Given the description of an element on the screen output the (x, y) to click on. 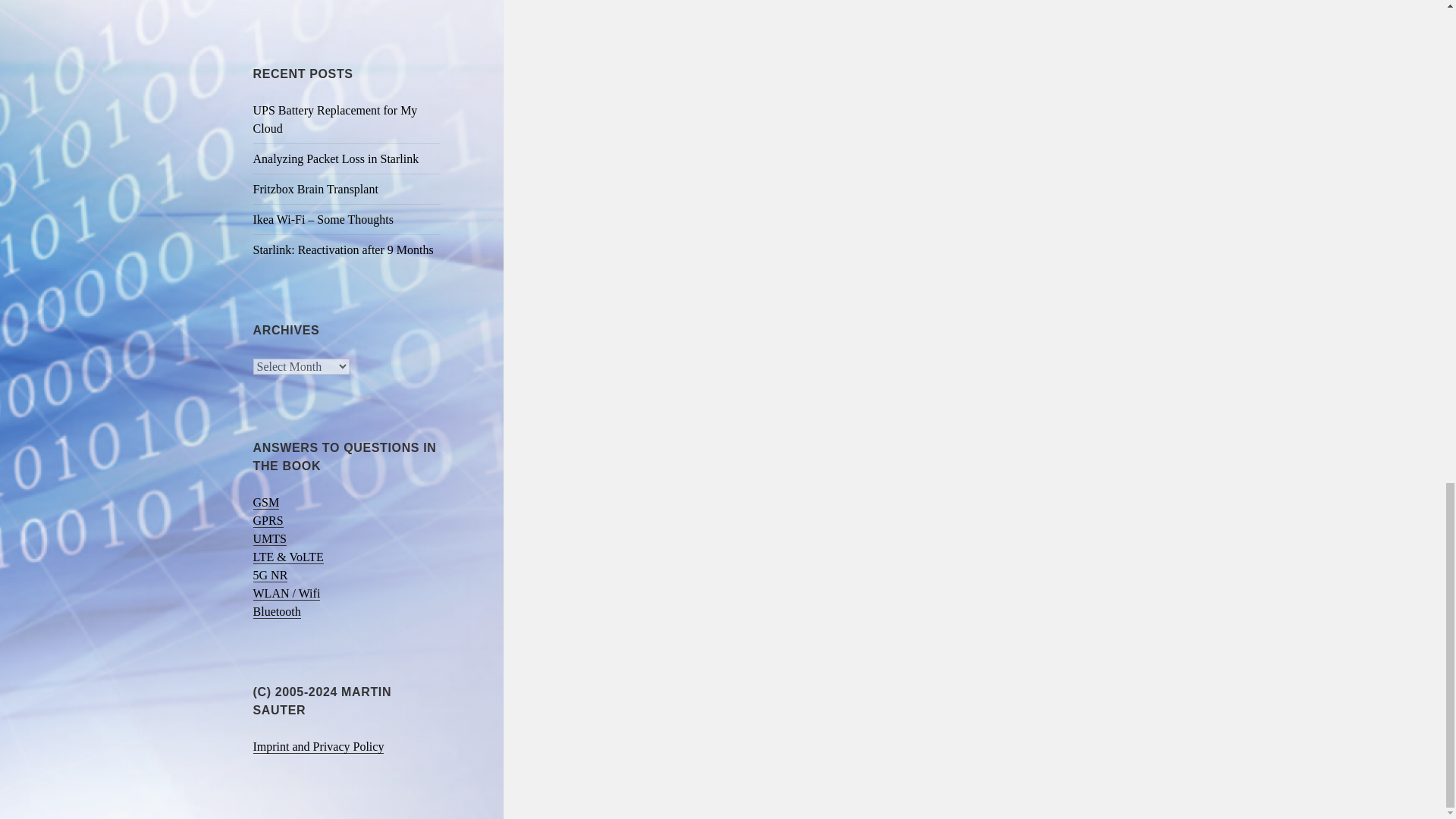
Bluetooth (277, 612)
GPRS (268, 520)
UMTS (269, 539)
Starlink: Reactivation after 9 Months (343, 249)
Imprint and Privacy Policy (318, 746)
5G NR (270, 575)
UPS Battery Replacement for My Cloud (335, 119)
Analyzing Packet Loss in Starlink (336, 158)
GSM (266, 502)
Fritzbox Brain Transplant (315, 188)
